Given the description of an element on the screen output the (x, y) to click on. 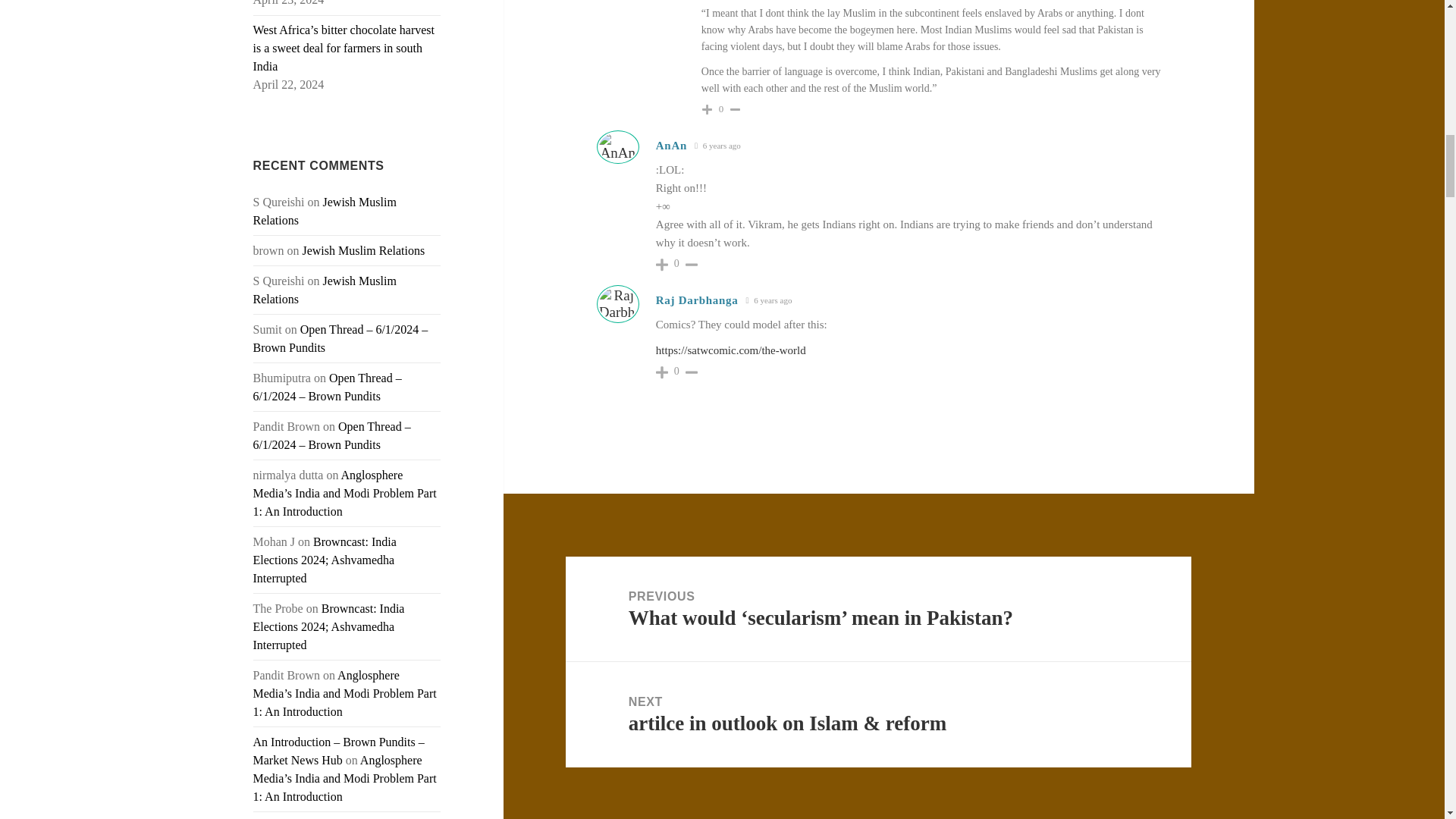
Browncast: India Elections 2024; Ashvamedha Interrupted (324, 559)
Jewish Muslim Relations (324, 289)
Jewish Muslim Relations (363, 250)
Browncast: India Elections 2024; Ashvamedha Interrupted (328, 626)
Jewish Muslim Relations (324, 210)
0 (721, 109)
